Given the description of an element on the screen output the (x, y) to click on. 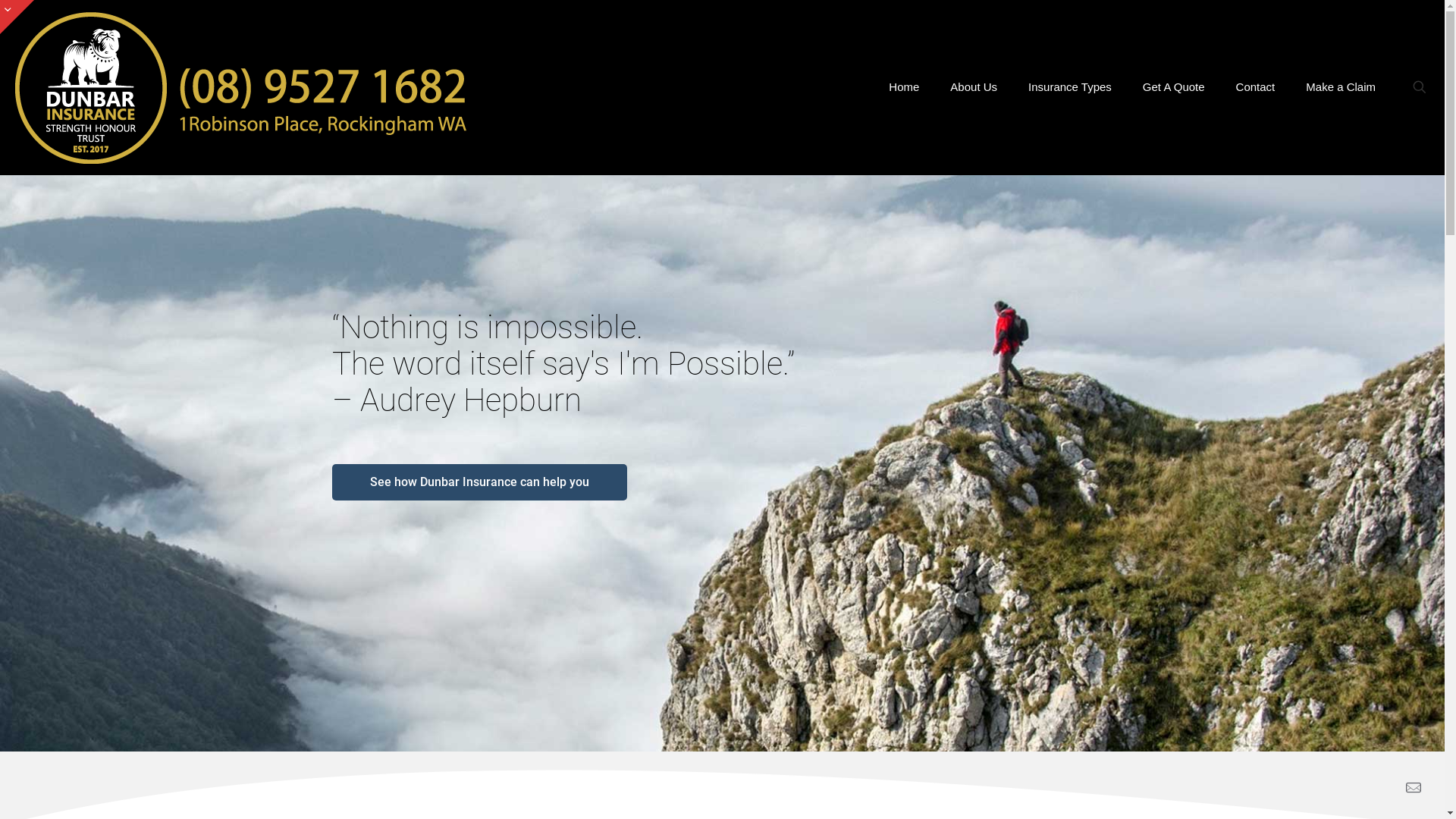
Get A Quote Element type: text (1173, 87)
About Us Element type: text (974, 87)
Home Element type: text (904, 87)
Contact Element type: text (1255, 87)
See how Dunbar Insurance can help you Element type: text (479, 482)
Insurance Types Element type: text (1070, 87)
Make a Claim Element type: text (1340, 87)
Dunbar Insurance Element type: hover (242, 87)
